Given the description of an element on the screen output the (x, y) to click on. 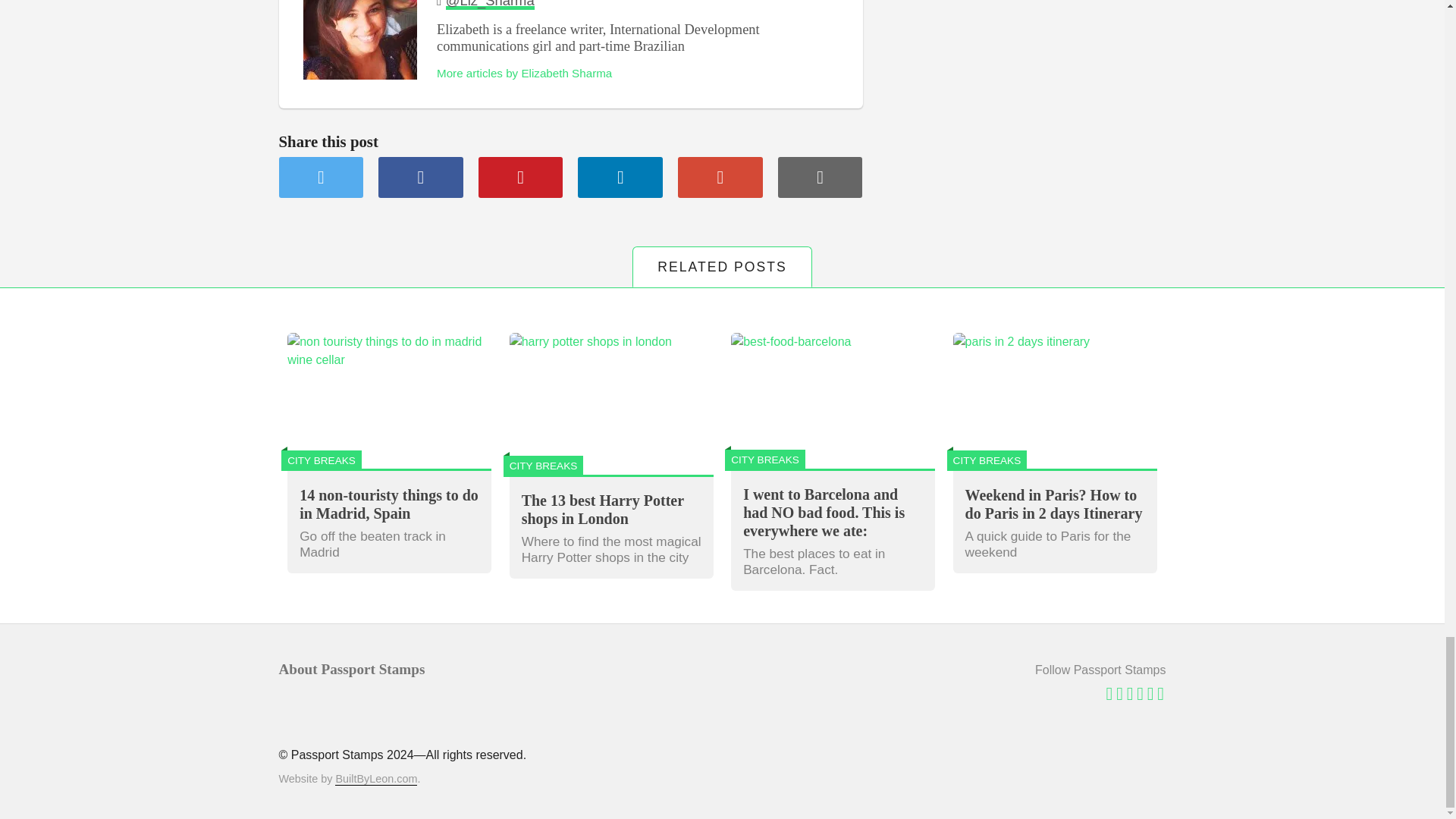
How to rock Rio like a local (620, 177)
How to rock Rio like a local (720, 177)
More articles by Elizabeth Sharma (523, 73)
How to rock Rio like a local (820, 177)
How to rock Rio like a local (321, 177)
How to rock Rio like a local (420, 177)
